Given the description of an element on the screen output the (x, y) to click on. 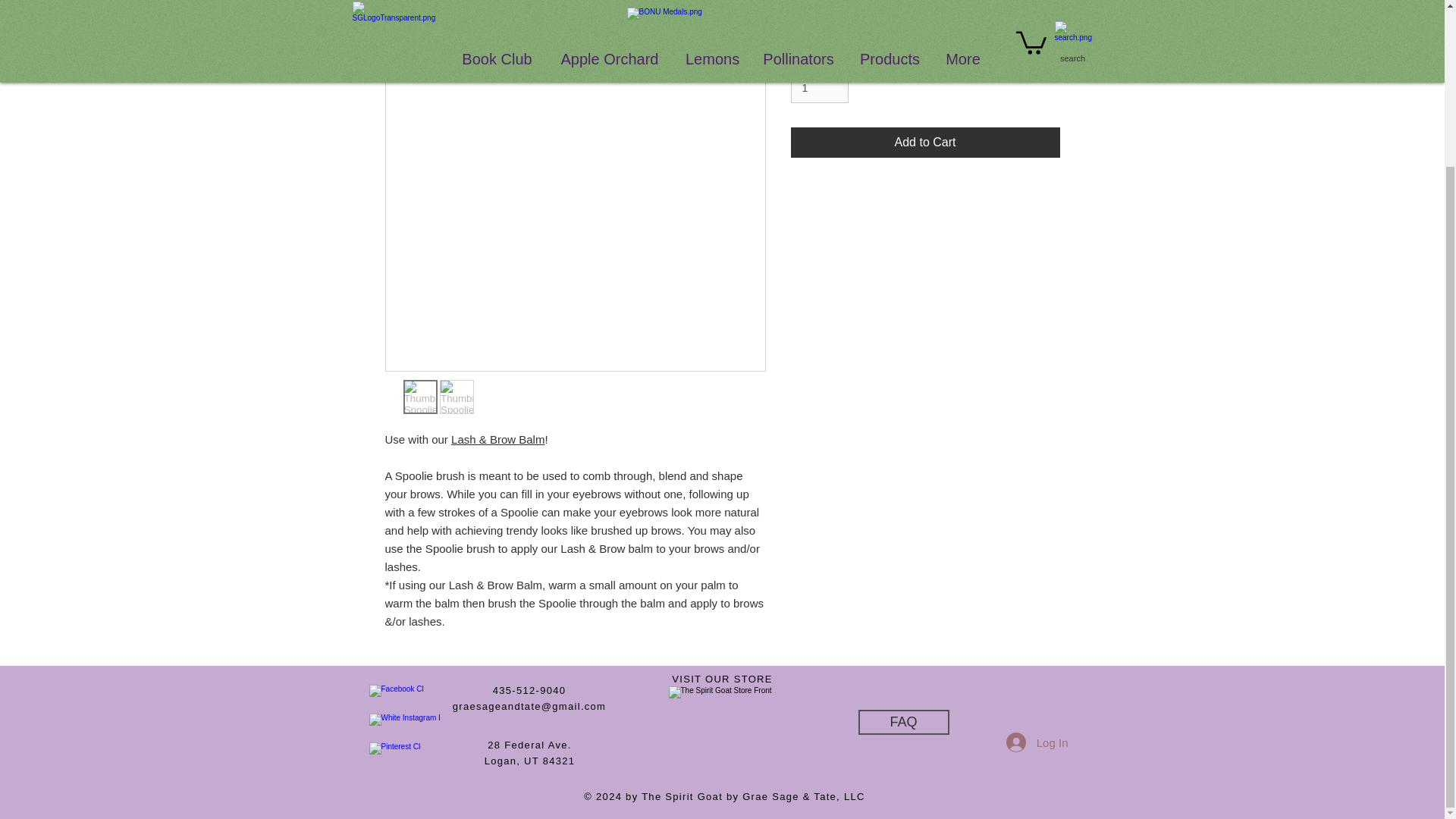
Log In (1036, 742)
Add to Cart (924, 142)
1 (818, 88)
FAQ (904, 722)
